Given the description of an element on the screen output the (x, y) to click on. 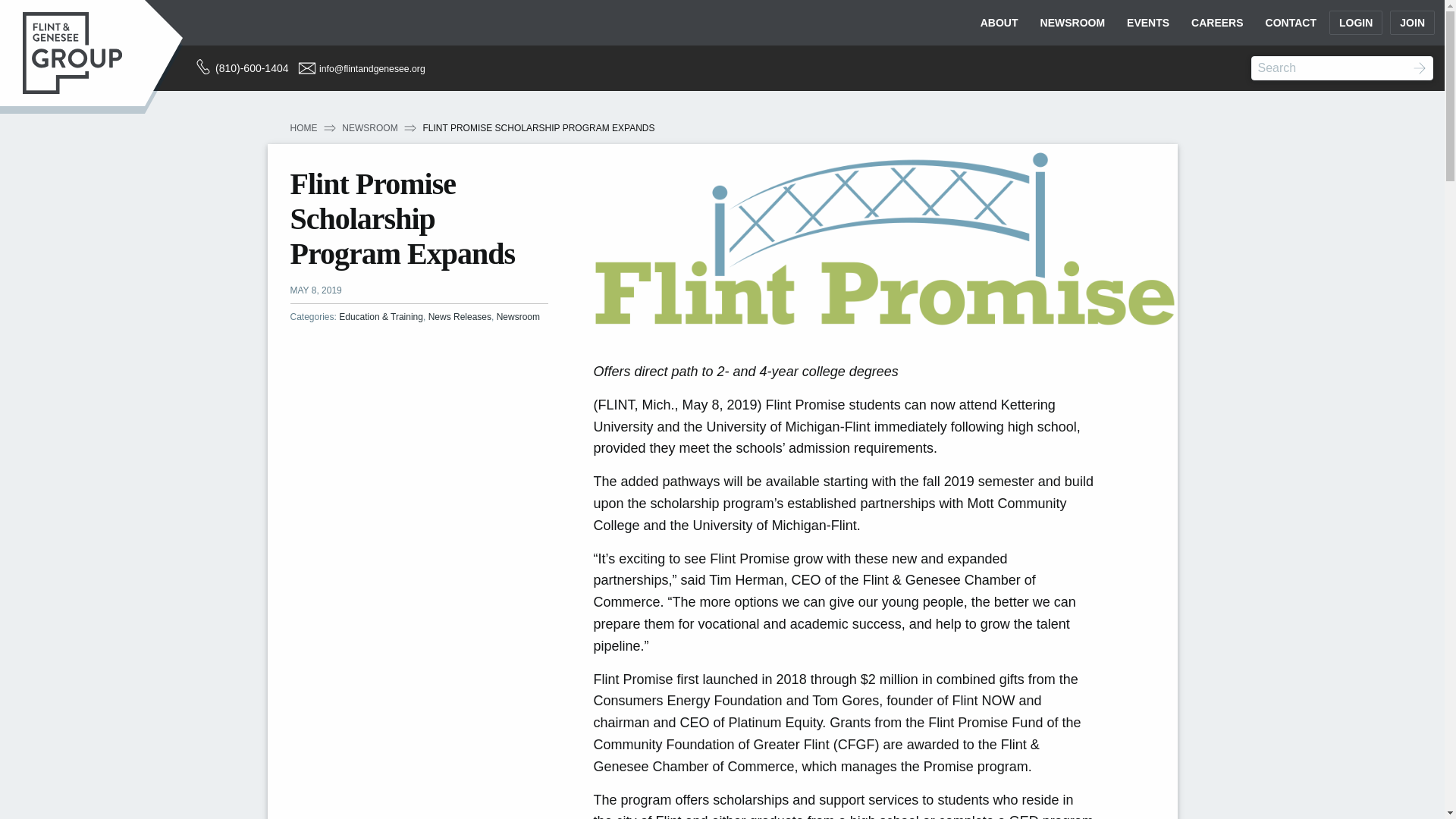
News Releases (460, 317)
Newsroom (518, 317)
LOGIN (1355, 22)
CONTACT (1290, 22)
ABOUT (999, 22)
Wednesday, May 8, 2019, 8:41 am (314, 290)
EVENTS (1147, 22)
HOME (303, 127)
CAREERS (1217, 22)
